Given the description of an element on the screen output the (x, y) to click on. 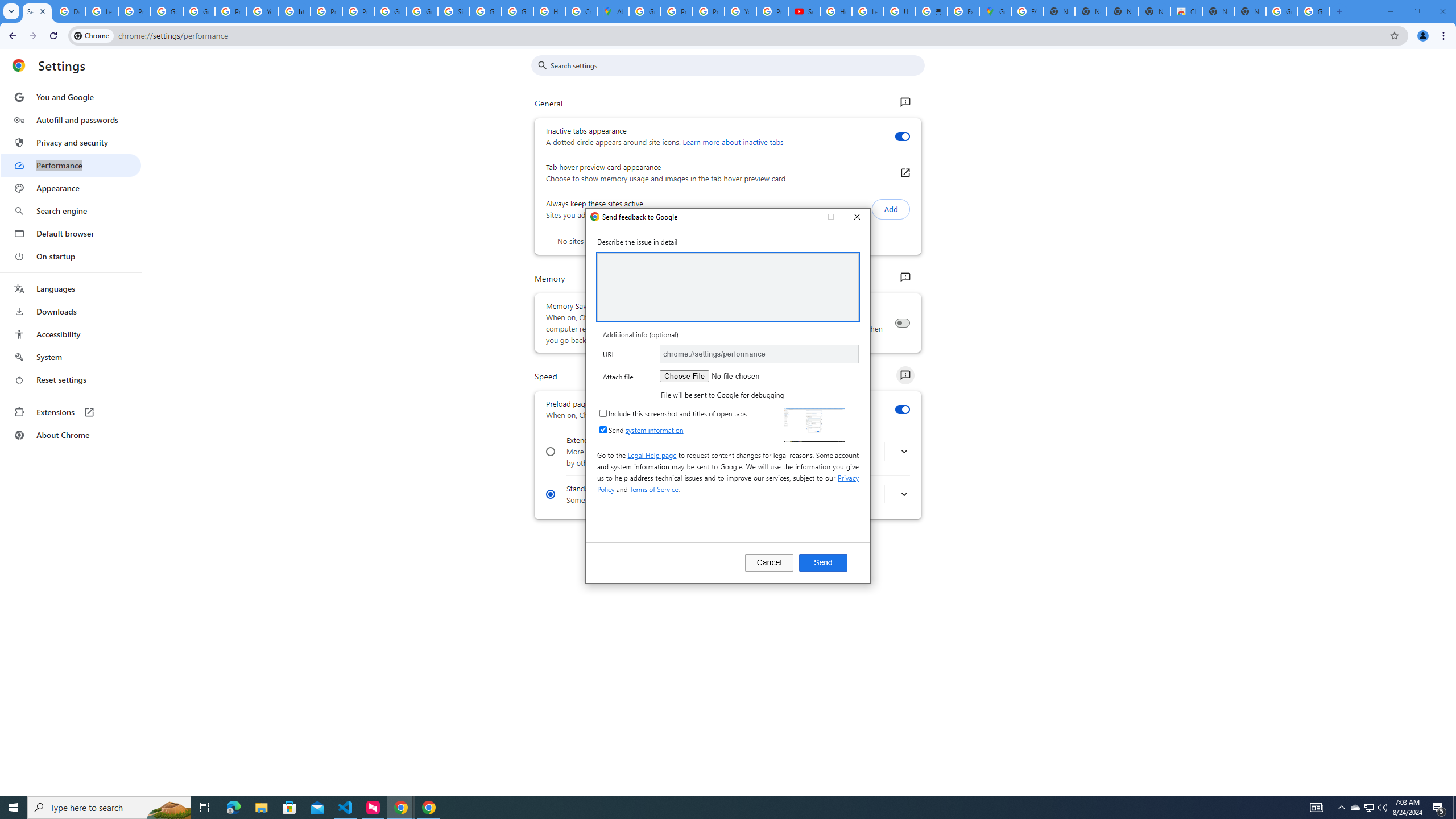
Reset settings (70, 379)
On startup (70, 255)
Search engine (70, 210)
Task View (204, 807)
Google Images (1281, 11)
Search highlights icon opens search home window (167, 807)
Sign in - Google Accounts (453, 11)
URL (759, 353)
Preload pages (901, 409)
